Given the description of an element on the screen output the (x, y) to click on. 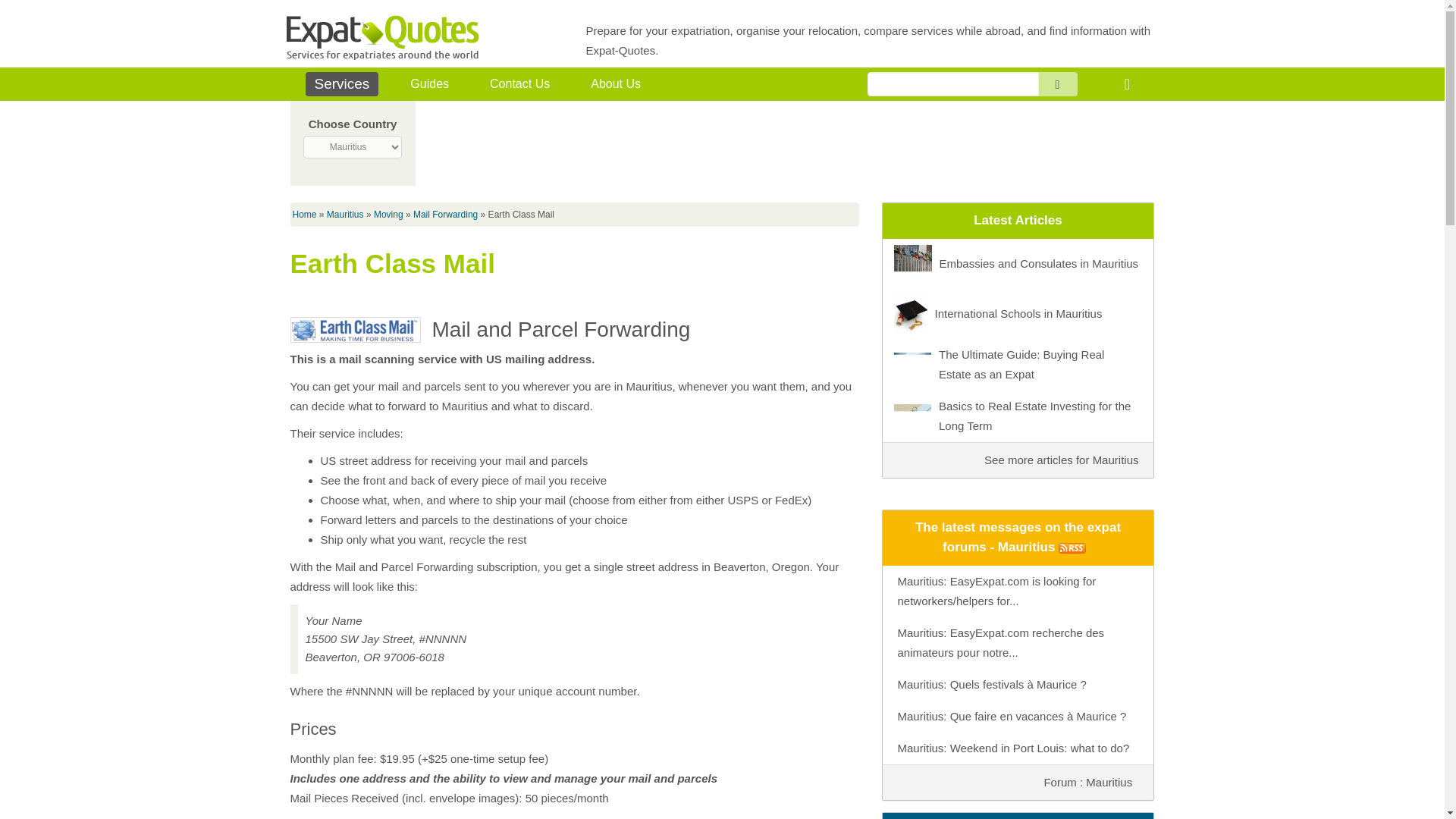
Services (341, 84)
Guides (429, 84)
Basics to Real Estate Investing for the Long Term (1018, 415)
About Us (614, 84)
Guides (429, 84)
About Us (614, 84)
Mail Forwarding (445, 214)
The latest messages on the expat forums - Mauritius (1018, 537)
International Schools in Mauritius (1018, 313)
